Given the description of an element on the screen output the (x, y) to click on. 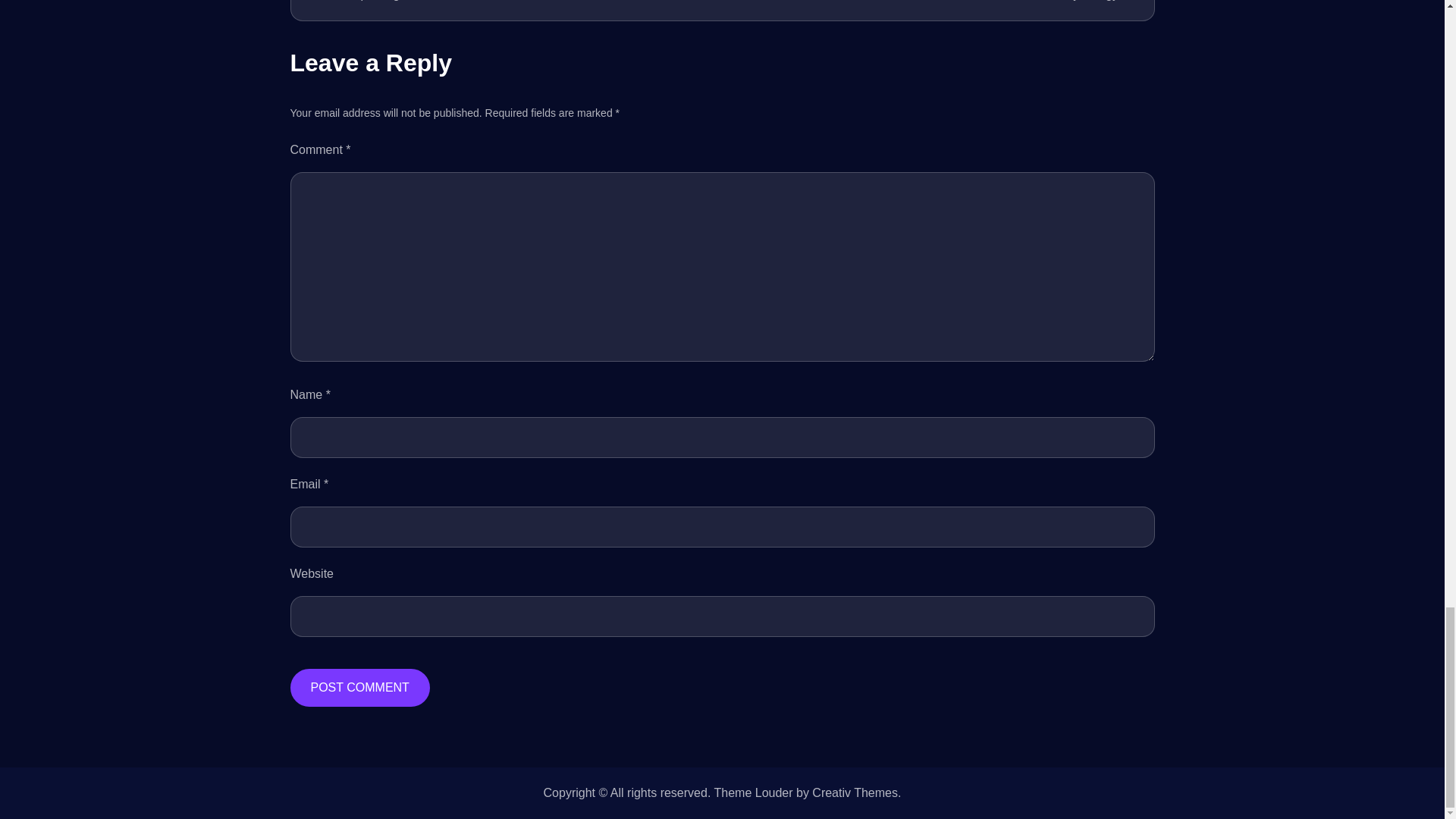
54: Exploding Ants (508, 2)
Post Comment (359, 687)
Post Comment (359, 687)
